Given the description of an element on the screen output the (x, y) to click on. 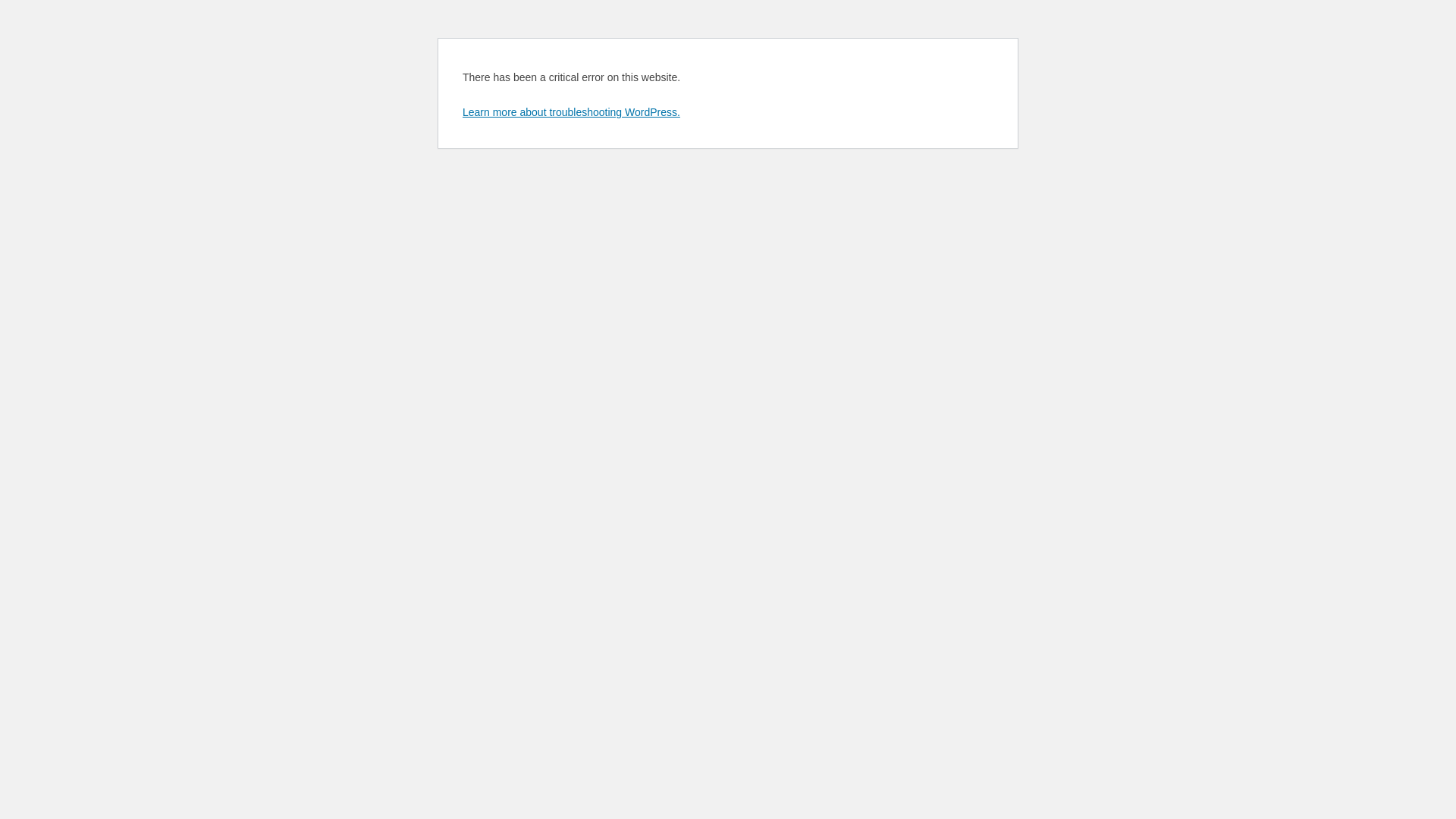
Learn more about troubleshooting WordPress. Element type: text (571, 112)
